Given the description of an element on the screen output the (x, y) to click on. 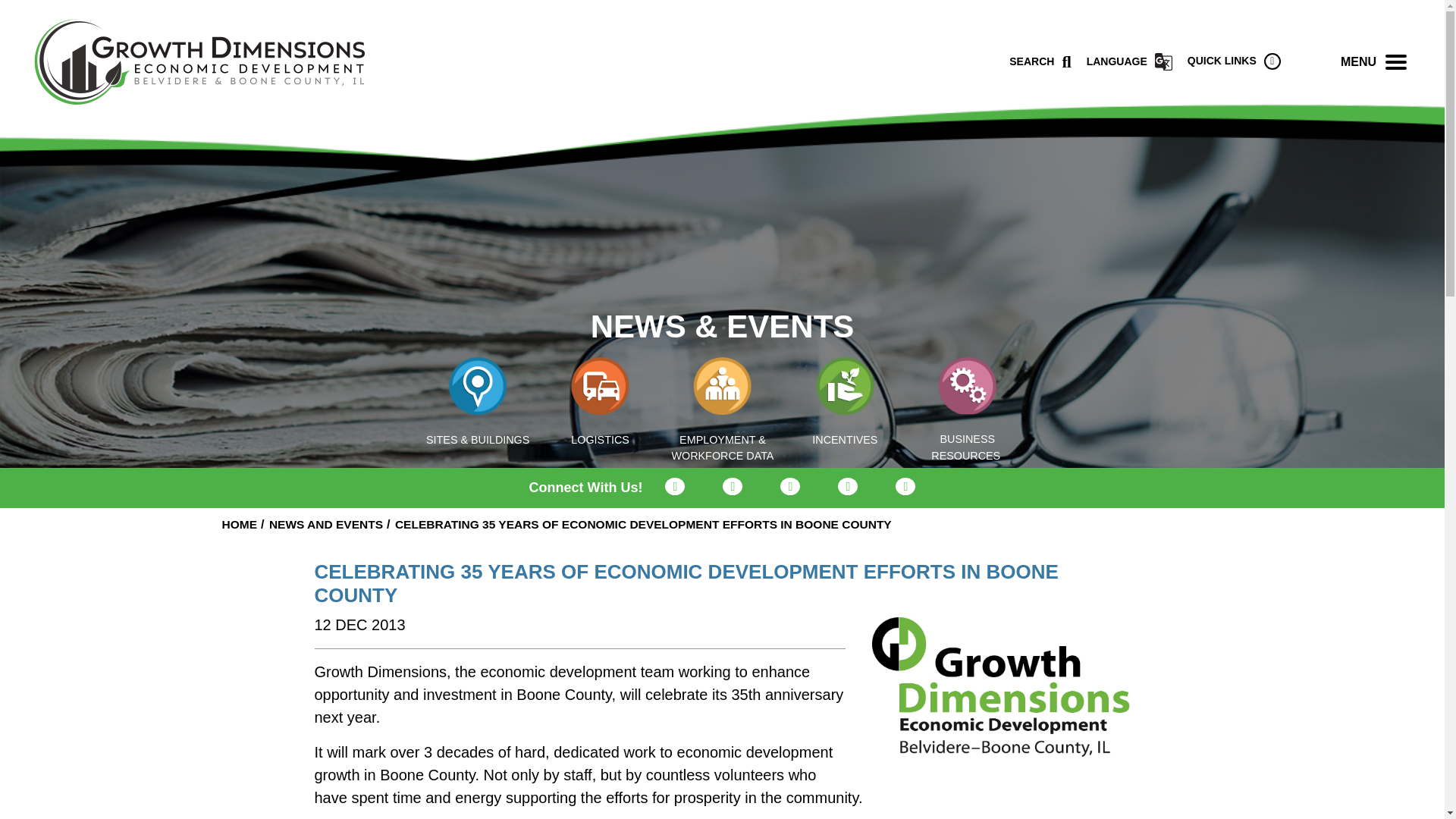
Linkedin (847, 486)
Facebook (732, 486)
Instagram (789, 486)
Tiktok (905, 486)
Twitter (674, 486)
TOGGLE NAVIGATION (1395, 60)
